Given the description of an element on the screen output the (x, y) to click on. 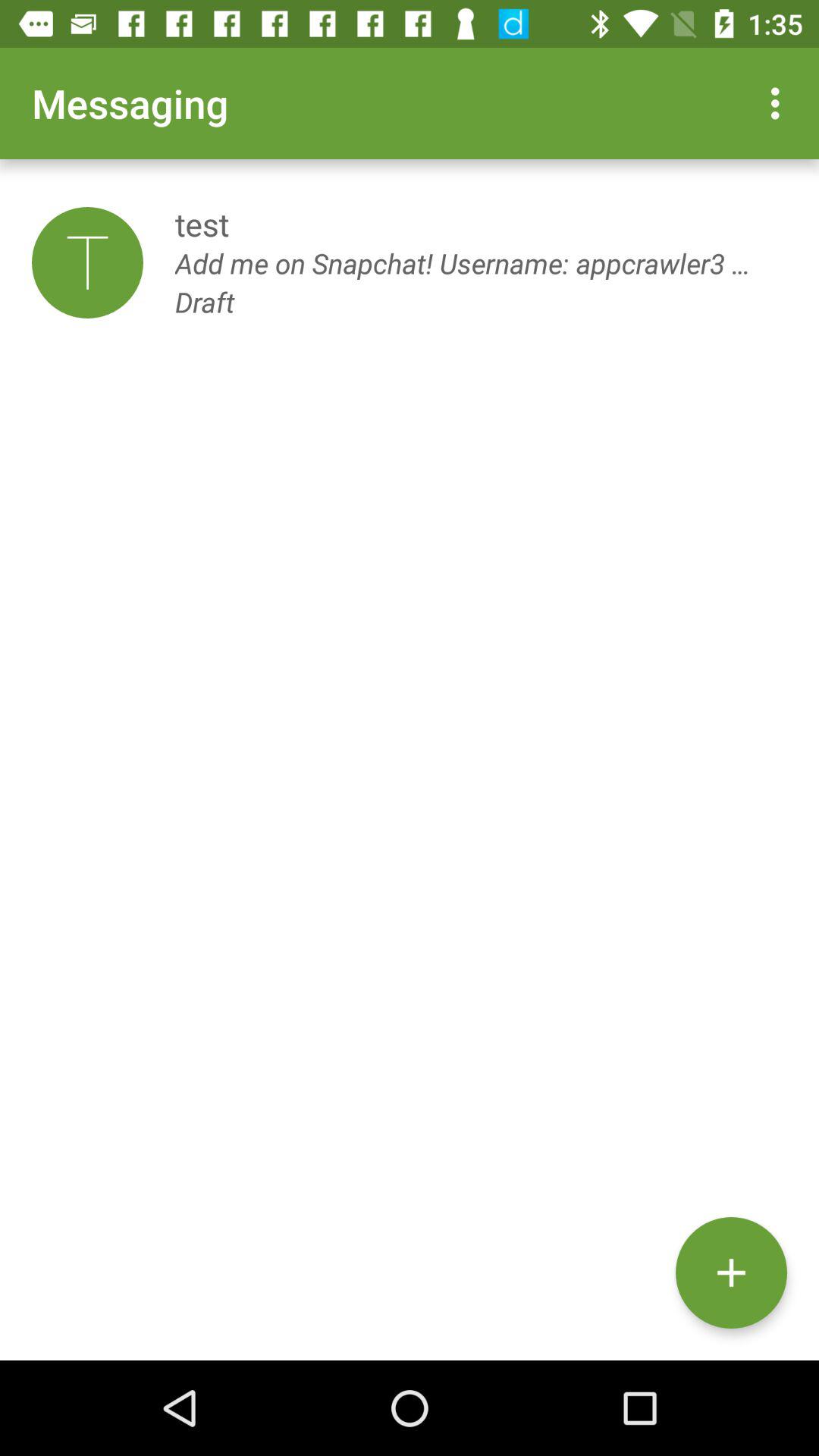
press the icon to the left of the test (87, 262)
